Given the description of an element on the screen output the (x, y) to click on. 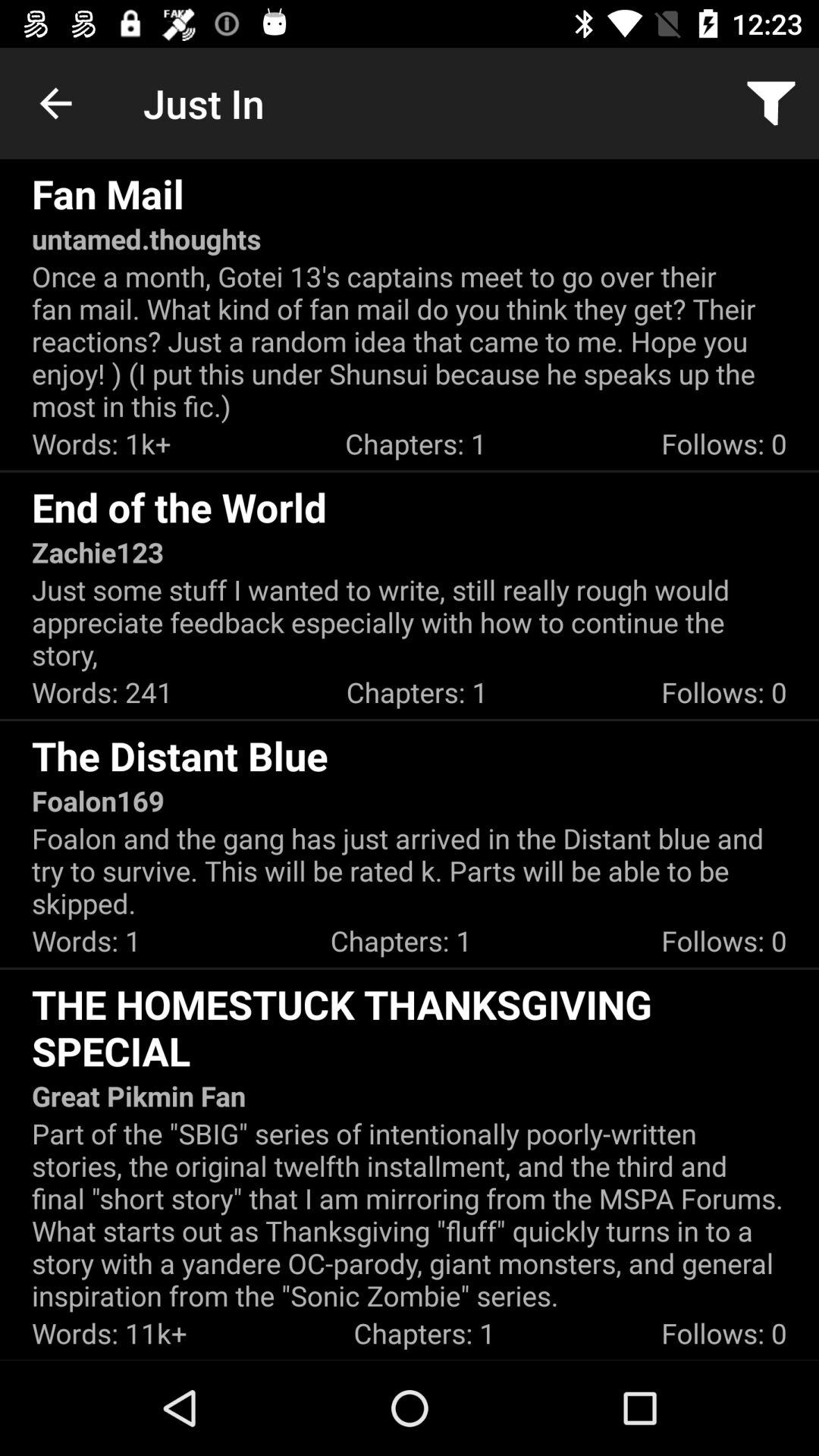
launch the icon to the left of the just in icon (55, 103)
